Given the description of an element on the screen output the (x, y) to click on. 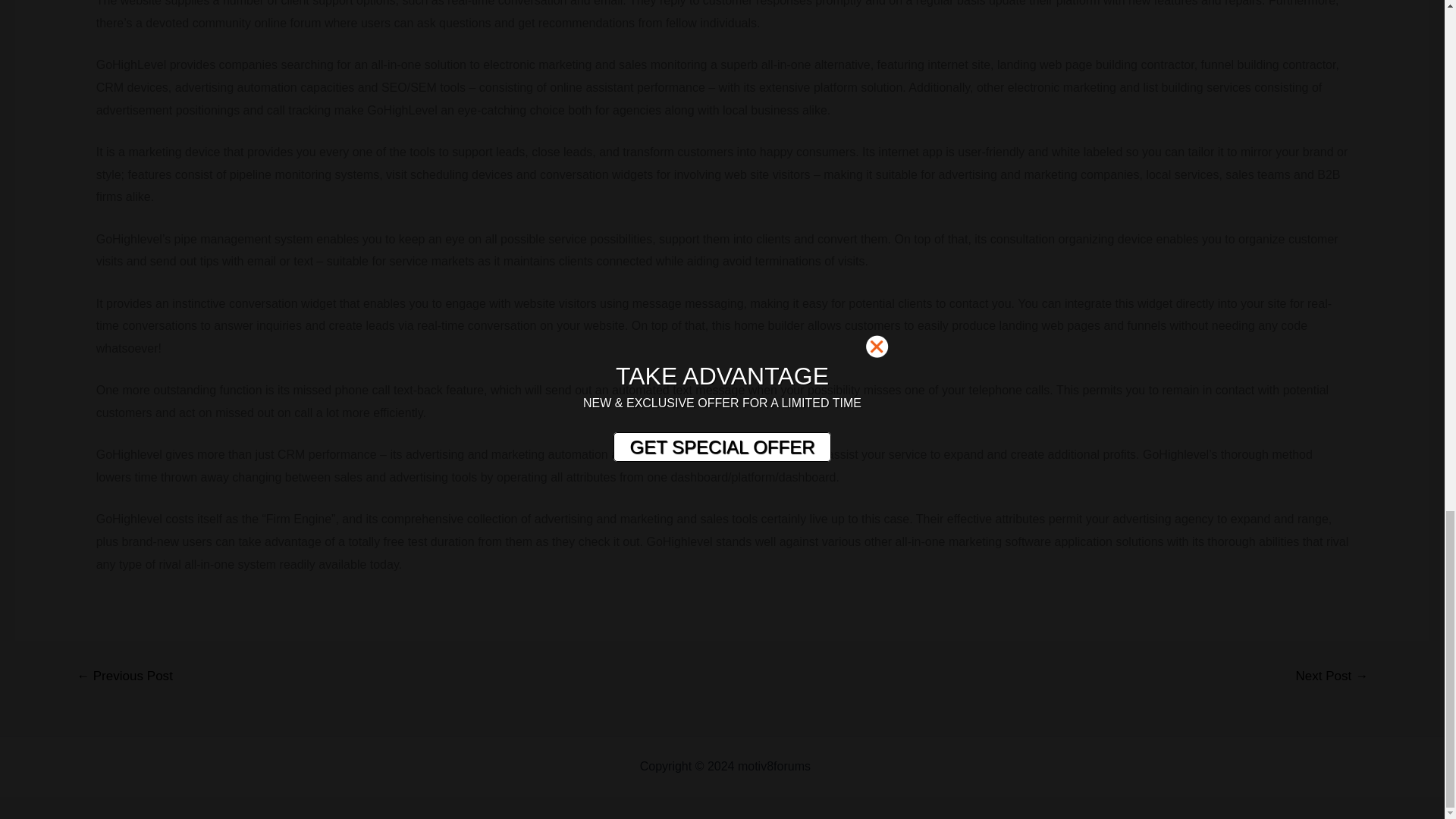
Sitemap (836, 766)
